Given the description of an element on the screen output the (x, y) to click on. 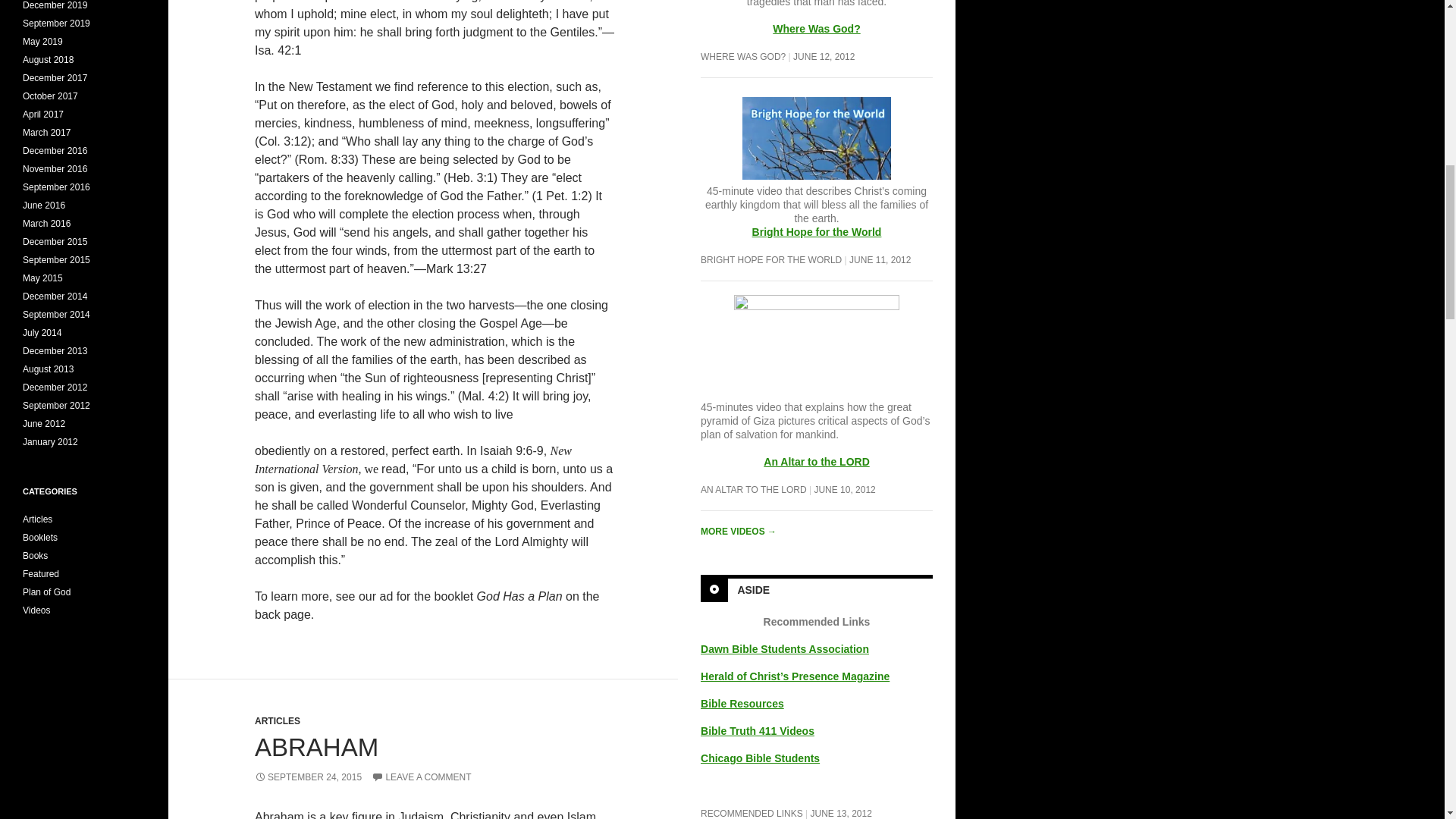
Bright Hope for the World (816, 147)
Bright Hope for the World (817, 232)
Where Was God? (816, 28)
